Given the description of an element on the screen output the (x, y) to click on. 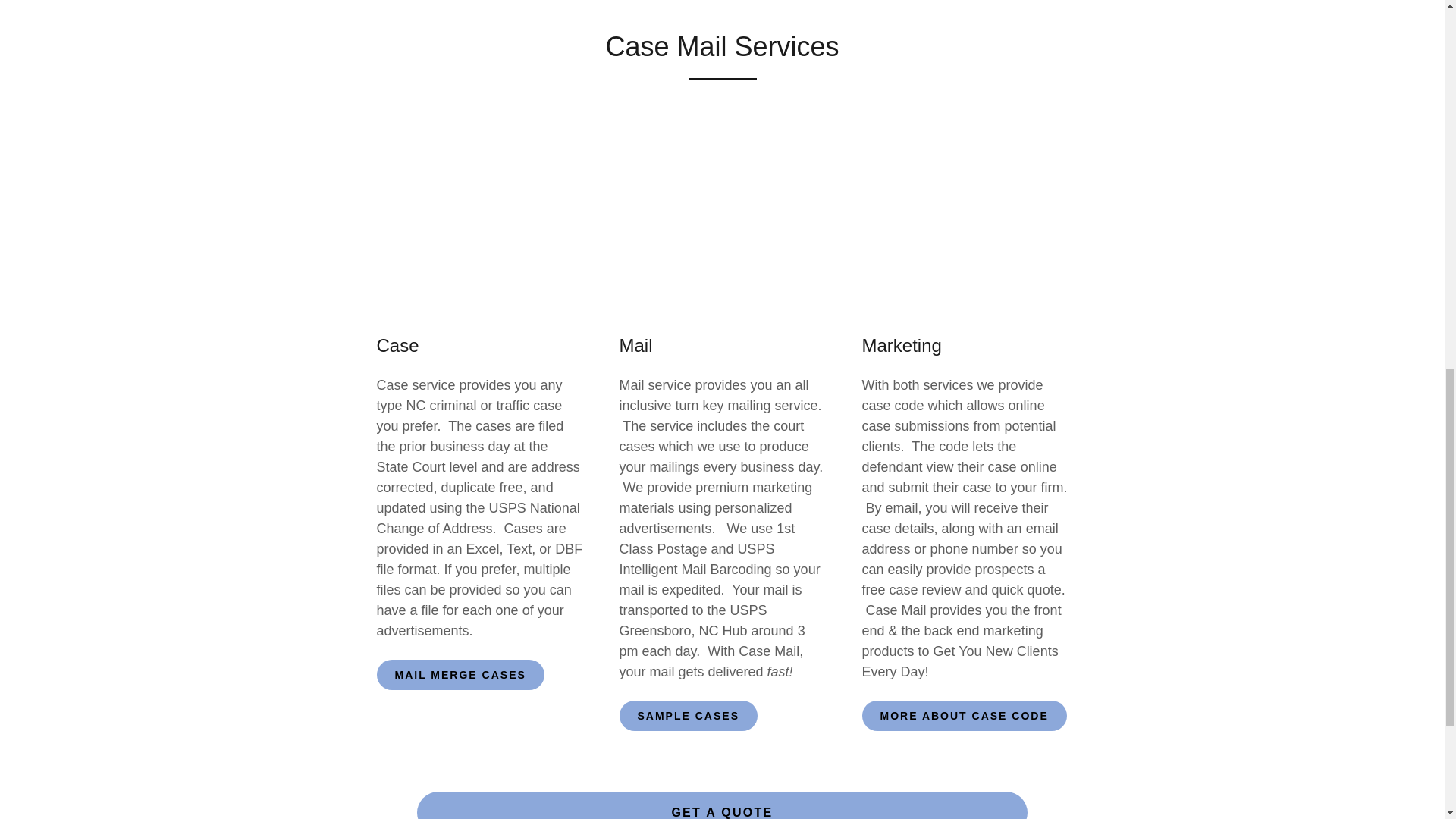
SAMPLE CASES (687, 716)
MORE ABOUT CASE CODE (963, 716)
MAIL MERGE CASES (459, 675)
GET A QUOTE (721, 805)
ACCEPT (1274, 324)
